Given the description of an element on the screen output the (x, y) to click on. 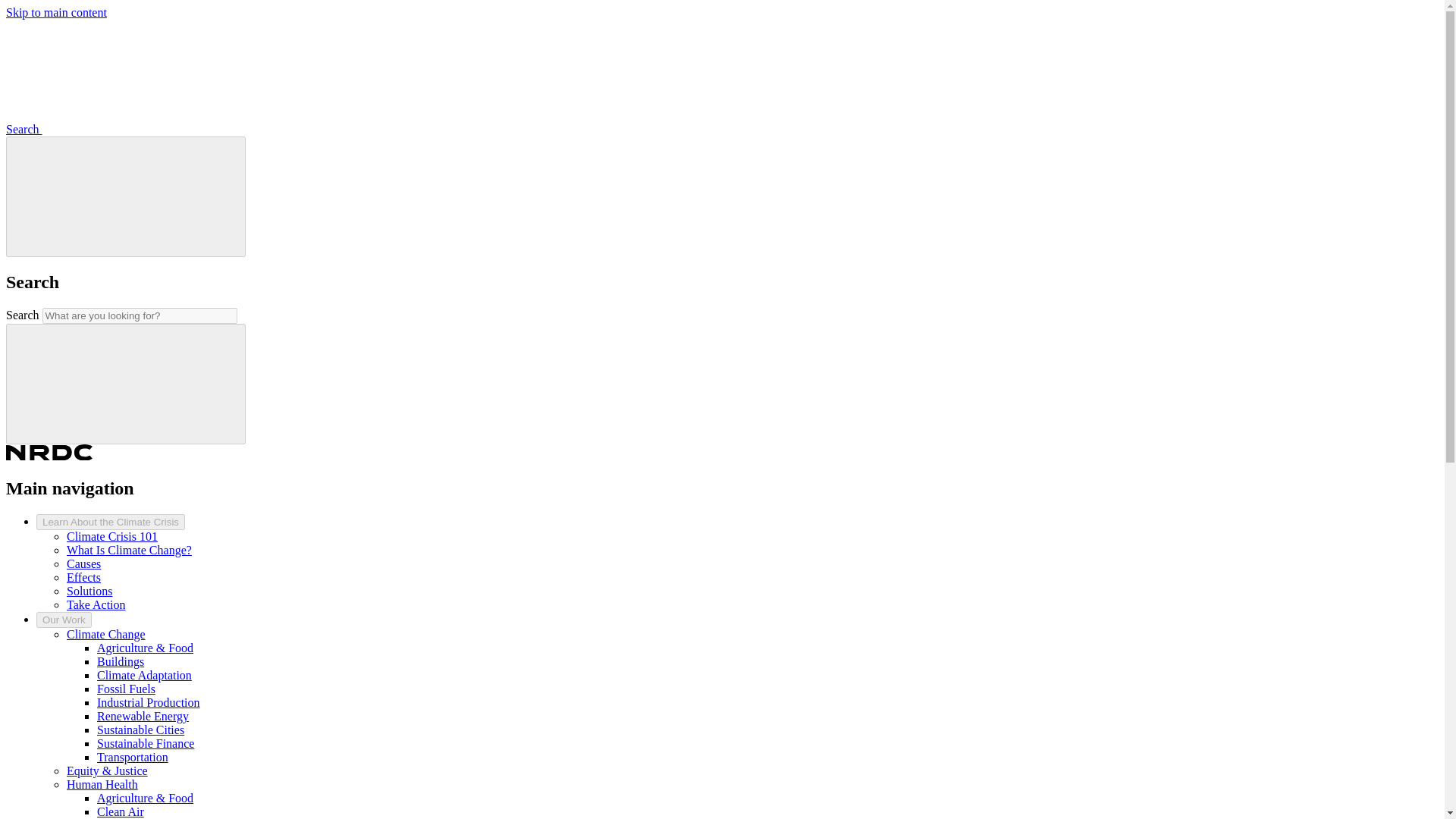
NRDC (49, 452)
Search (125, 382)
Search (137, 128)
Fossil Fuels (126, 688)
Sustainable Finance (145, 743)
Renewable Energy (143, 716)
Causes (83, 563)
Take Action (95, 604)
Climate Change (105, 634)
Sustainable Cities (140, 729)
